Given the description of an element on the screen output the (x, y) to click on. 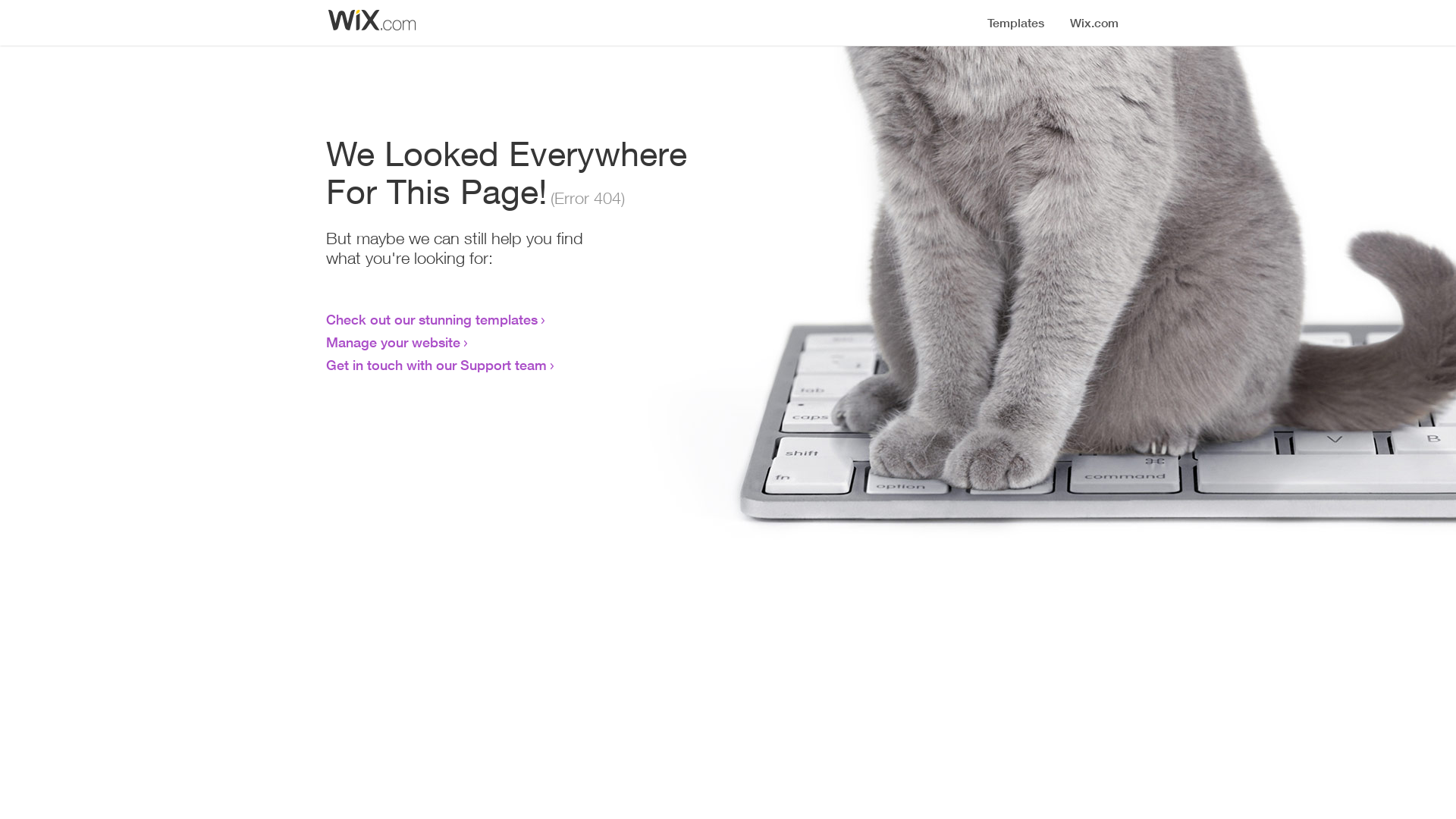
Get in touch with our Support team Element type: text (436, 364)
Manage your website Element type: text (393, 341)
Check out our stunning templates Element type: text (431, 318)
